Given the description of an element on the screen output the (x, y) to click on. 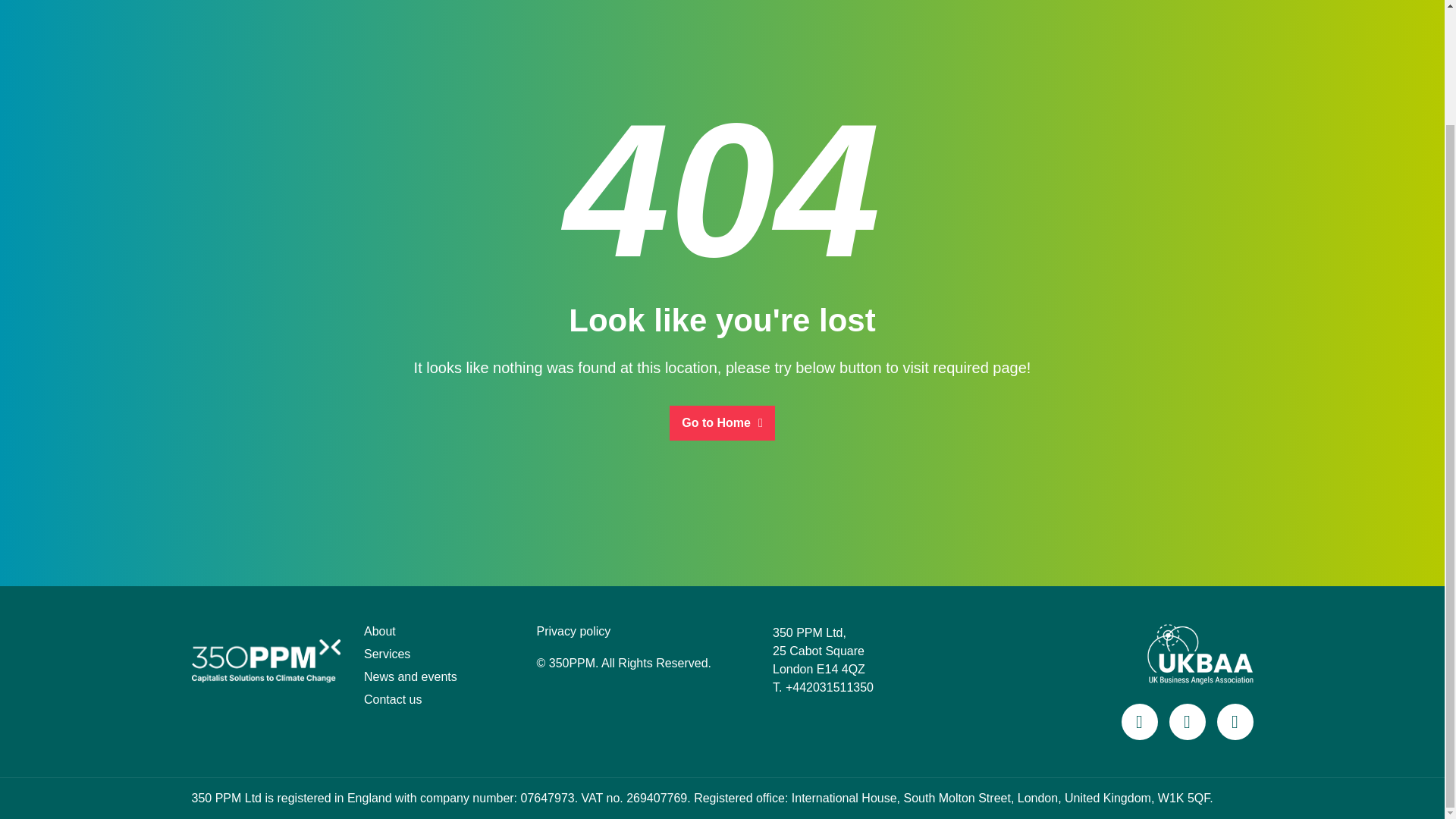
Go to Home (721, 421)
Services (387, 653)
About (380, 631)
News and events (410, 676)
Contact us (393, 698)
Privacy policy (574, 631)
